Given the description of an element on the screen output the (x, y) to click on. 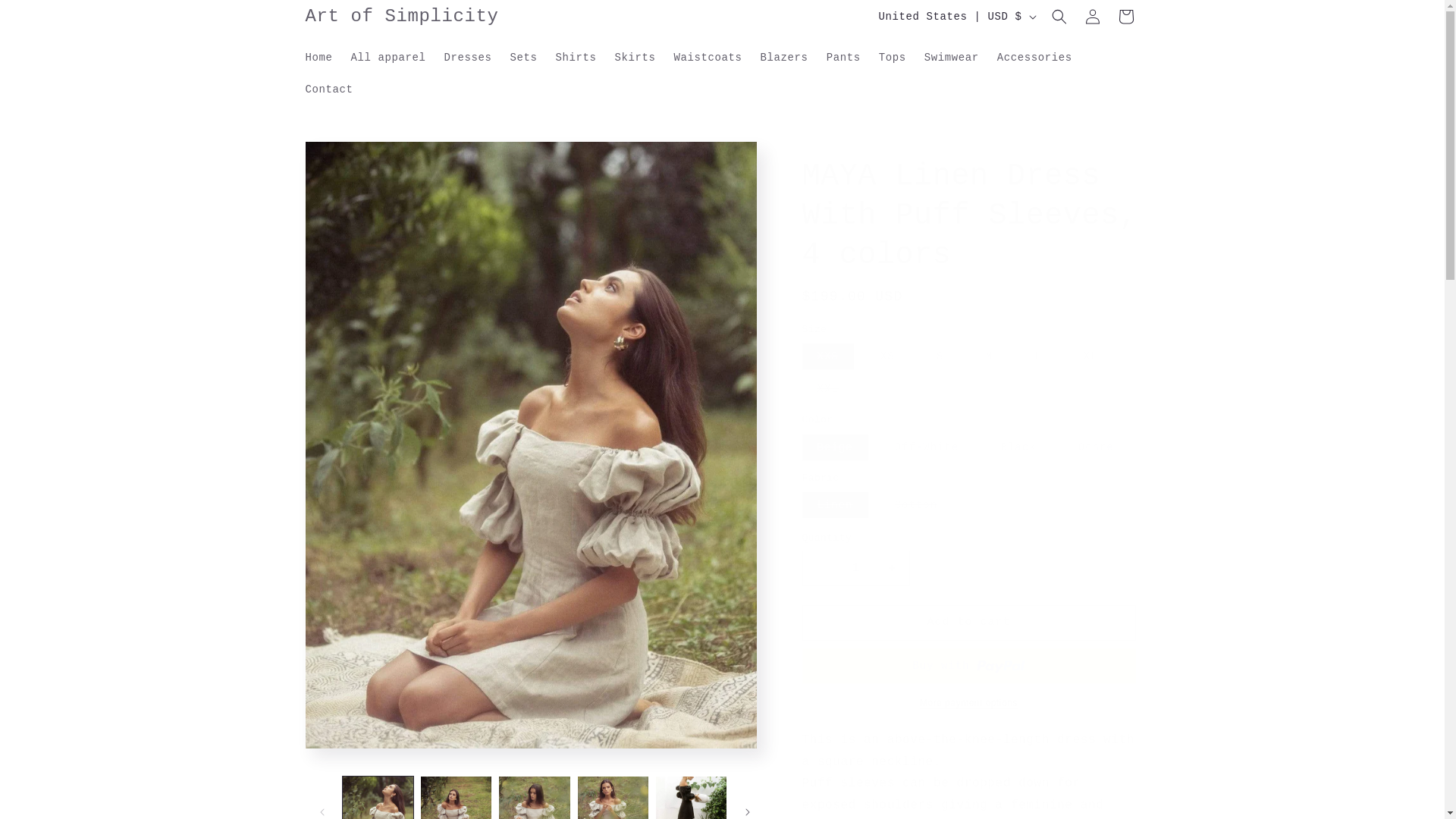
Skip to content (45, 17)
1 (856, 568)
Skirts (635, 56)
Swimwear (951, 56)
Sets (523, 56)
Log in (1091, 16)
Blazers (783, 56)
Tops (892, 56)
Cart (1124, 16)
